Given the description of an element on the screen output the (x, y) to click on. 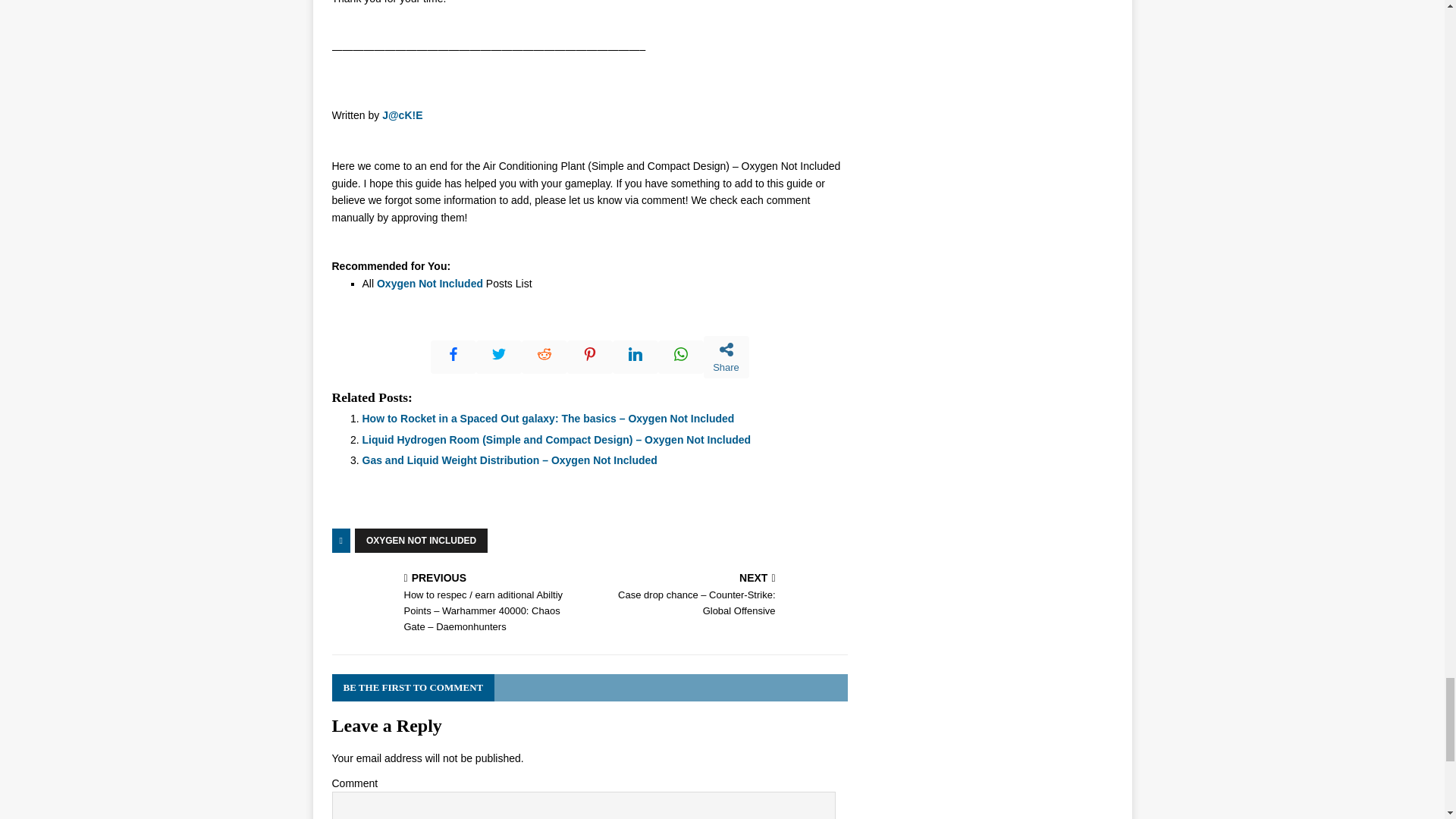
OXYGEN NOT INCLUDED (421, 540)
Oxygen Not Included (430, 283)
Share (726, 356)
